Given the description of an element on the screen output the (x, y) to click on. 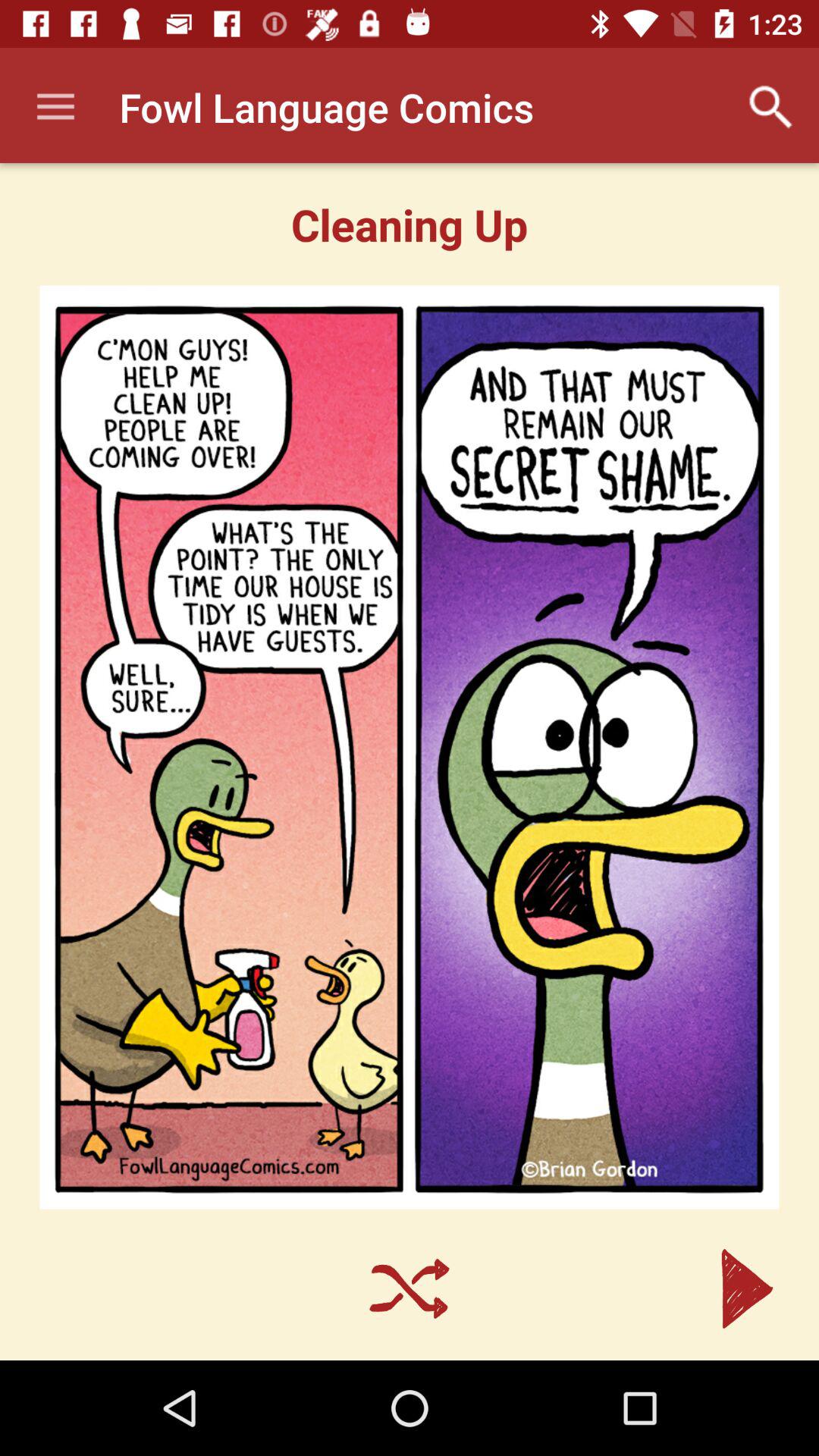
press item to the left of the fowl language comics app (55, 107)
